Given the description of an element on the screen output the (x, y) to click on. 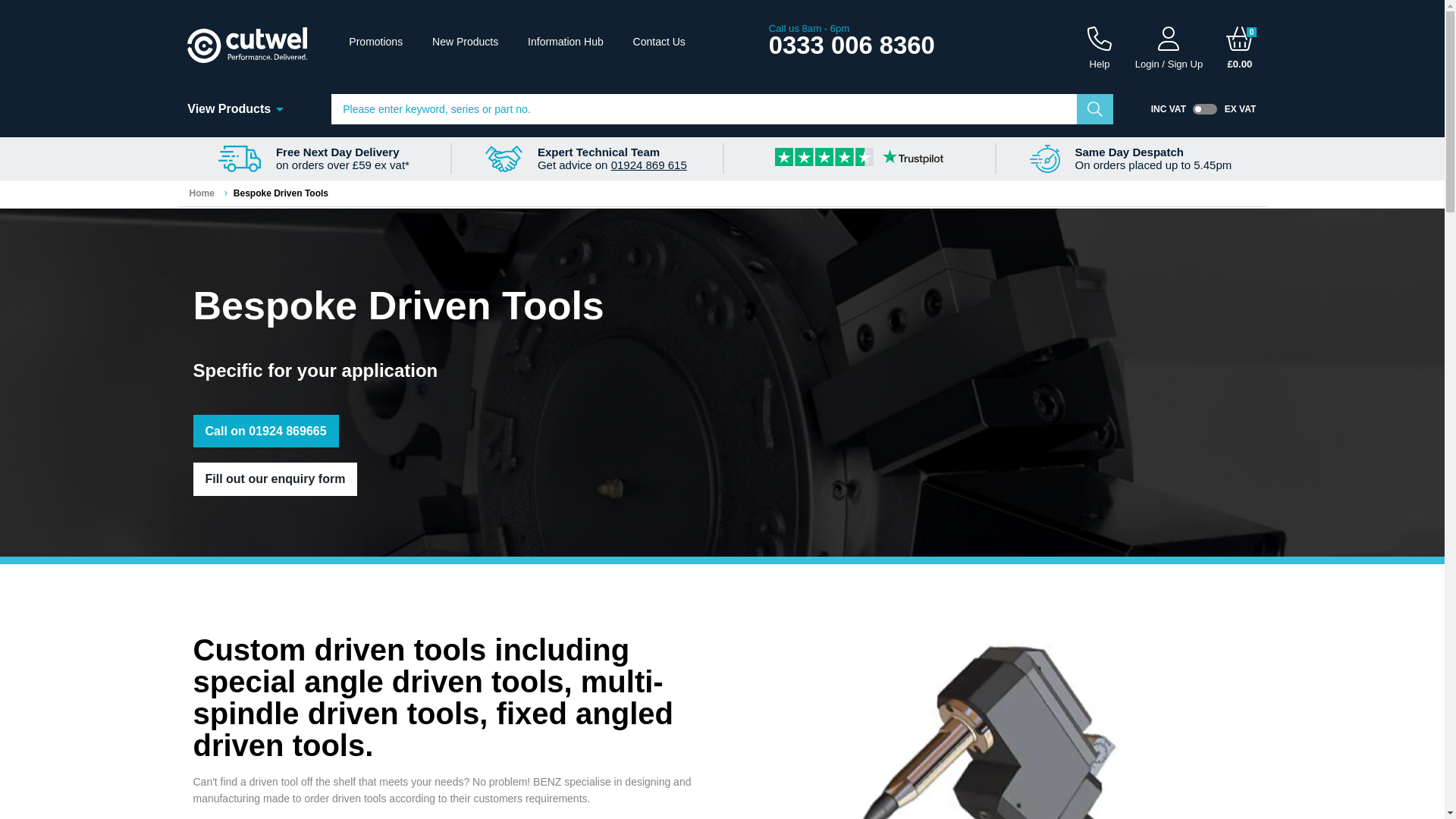
Contact Us (659, 41)
Cutwel Ltd (247, 44)
Promotions (376, 41)
New Products (464, 41)
Information Hub (565, 41)
Promotions (376, 41)
Information Hub (565, 41)
Cutwel Ltd (247, 44)
0333 006 8360 (851, 44)
Contact Us (659, 41)
New Products (464, 41)
